Given the description of an element on the screen output the (x, y) to click on. 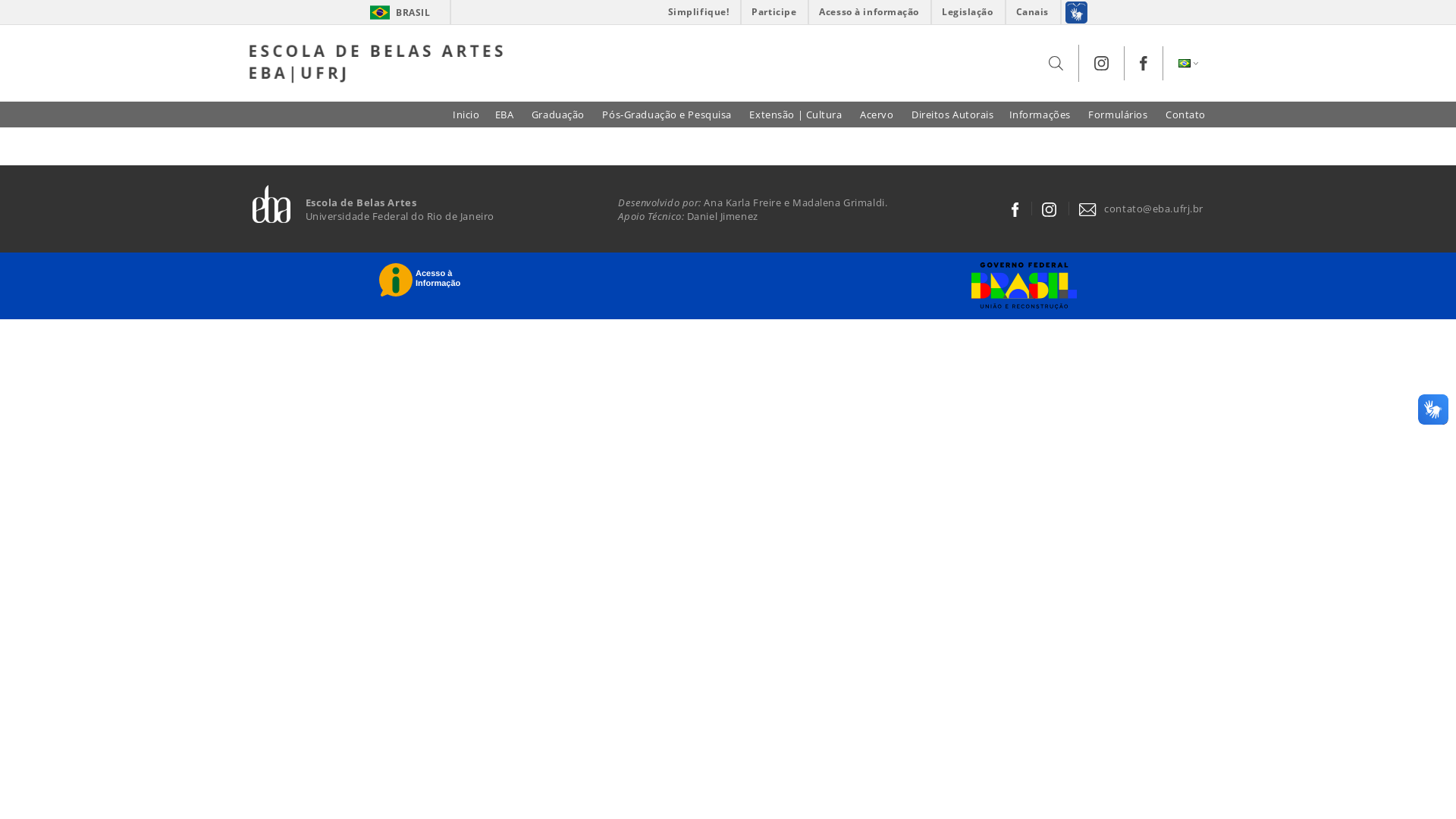
Inicio Element type: text (465, 114)
Contato Element type: text (1185, 114)
Governo Federal Element type: hover (1019, 285)
BRASIL Element type: text (380, 12)
  contato@eba.ufrj.br Element type: text (1141, 208)
Direitos Autorais Element type: text (952, 114)
